Given the description of an element on the screen output the (x, y) to click on. 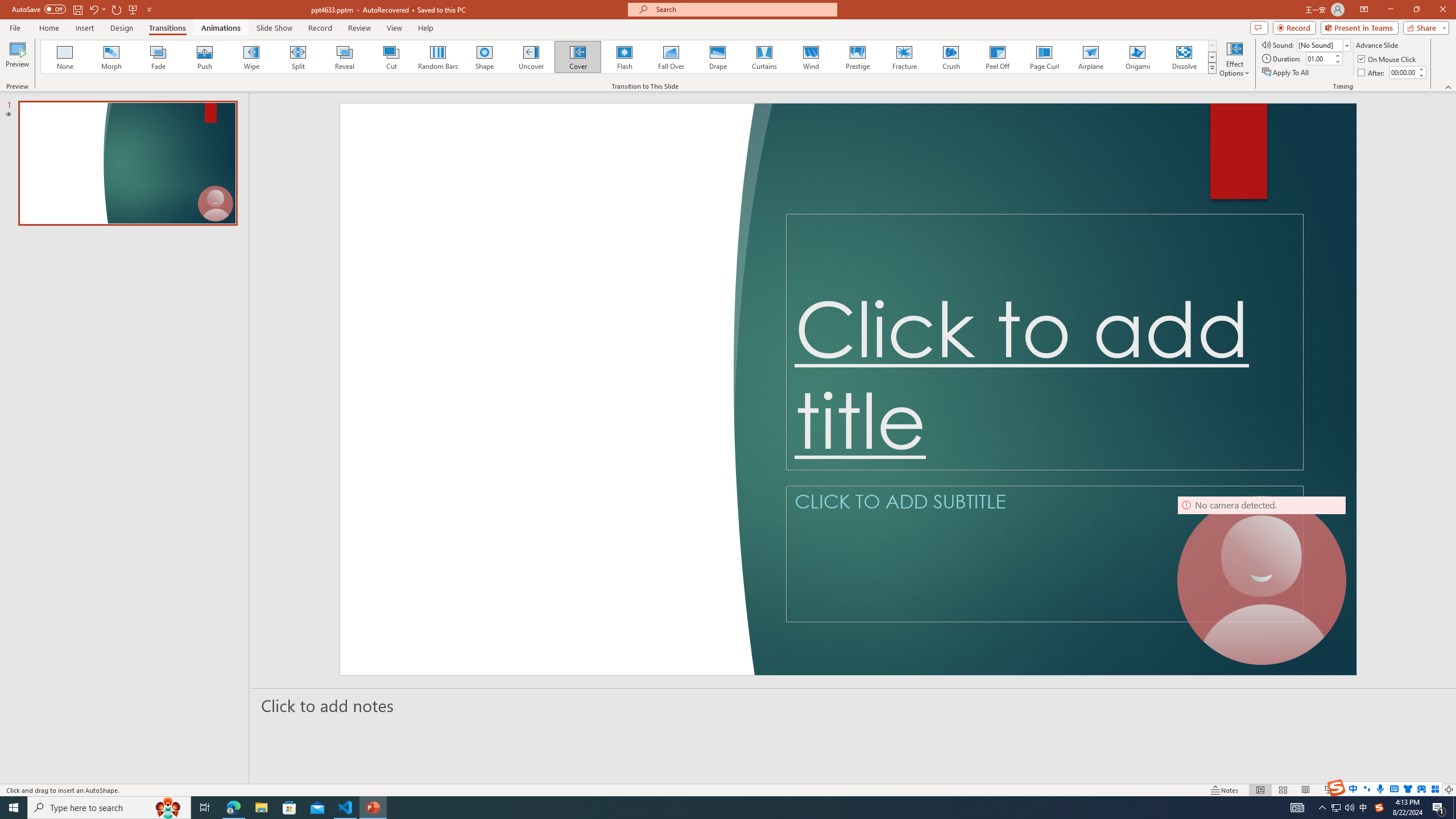
Ion Variant 2 (1164, 56)
Ion Variant 3 (1217, 56)
Wisp Loading Preview... (561, 56)
